Given the description of an element on the screen output the (x, y) to click on. 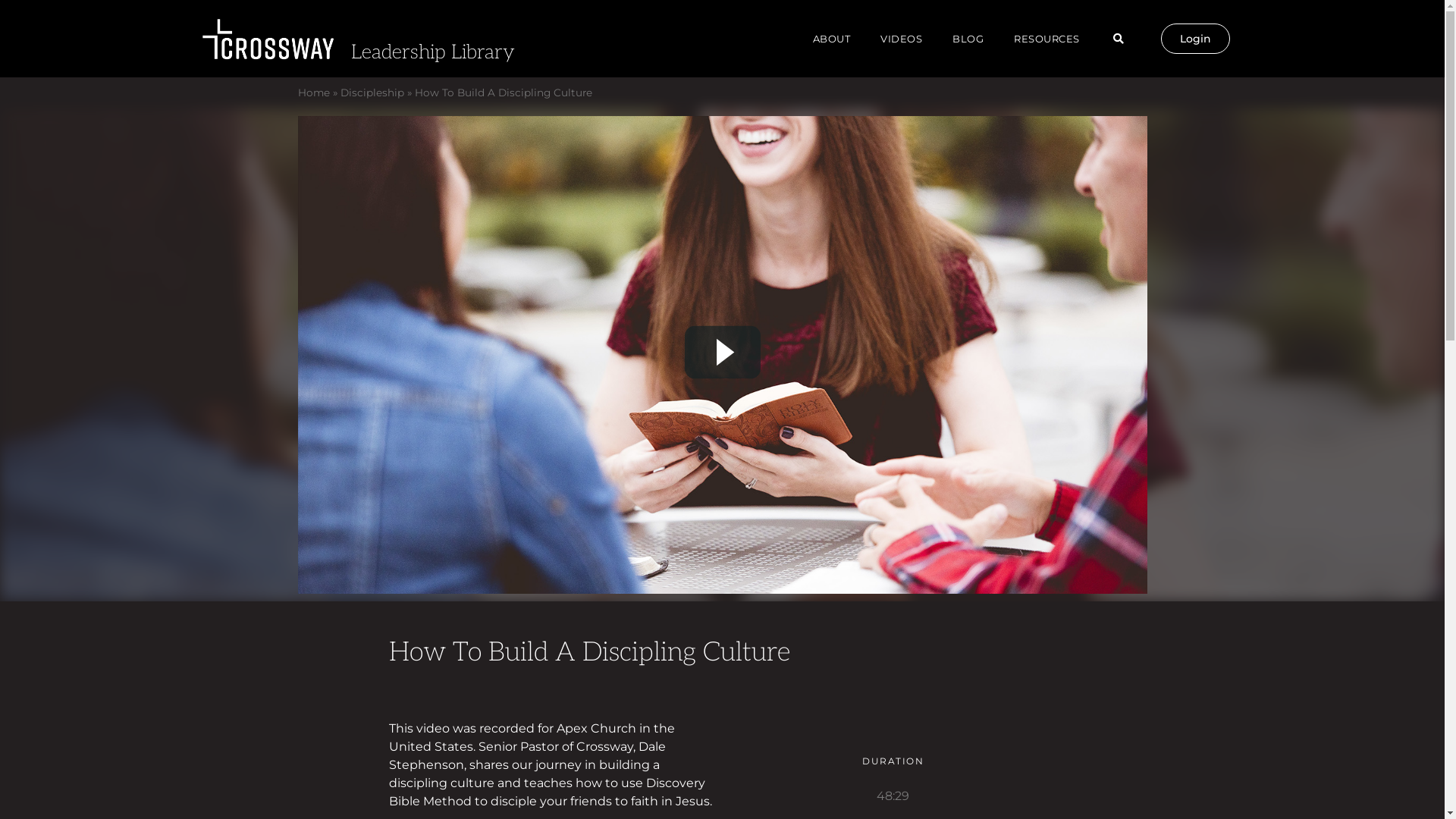
VIDEOS Element type: text (901, 38)
Home Element type: text (313, 92)
RESOURCES Element type: text (1046, 38)
BLOG Element type: text (967, 38)
Login Element type: text (1195, 38)
ABOUT Element type: text (831, 38)
Discipleship Element type: text (371, 92)
Leadership Library Element type: text (432, 52)
